Given the description of an element on the screen output the (x, y) to click on. 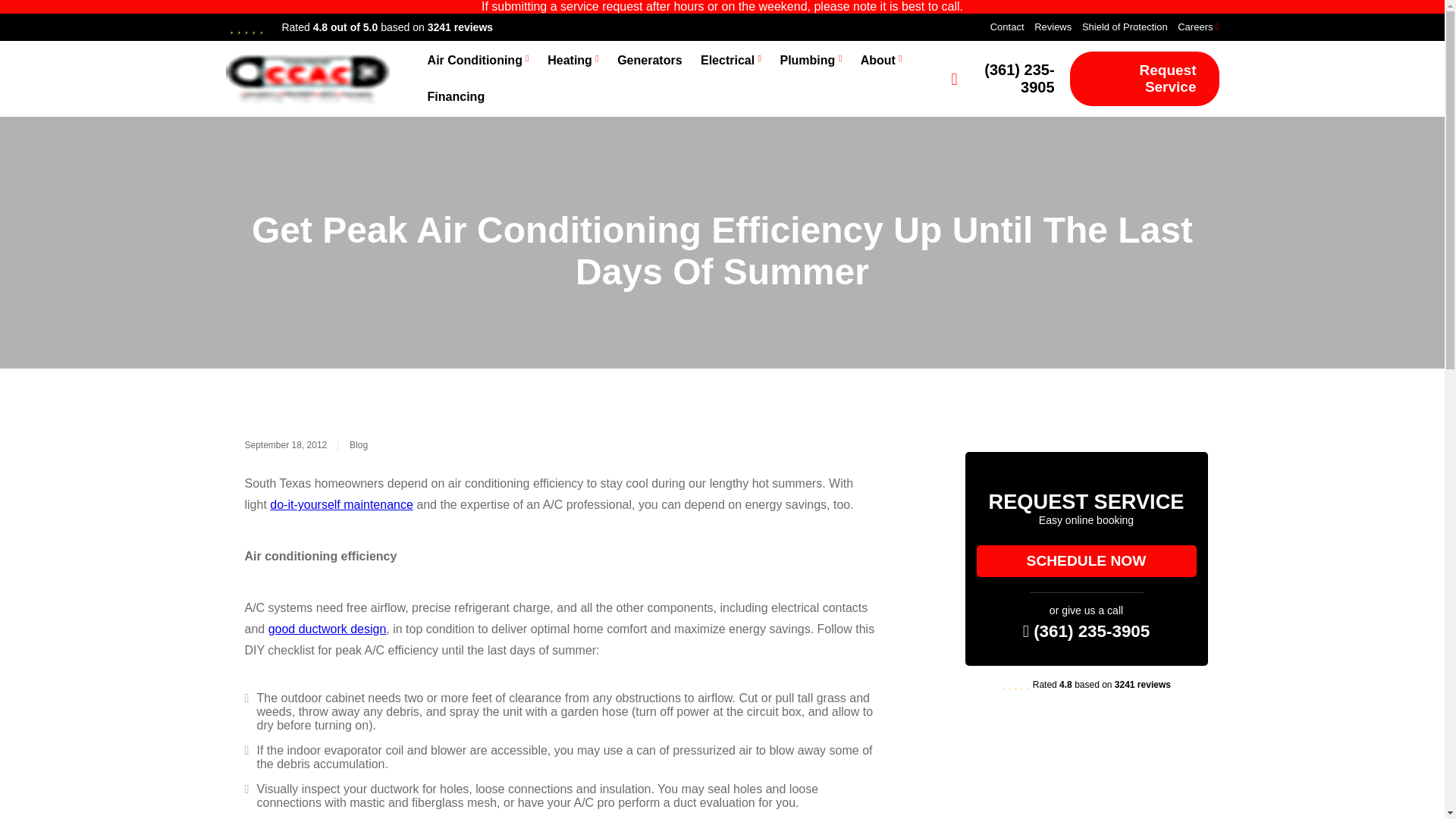
Electrical (727, 60)
Careers (1194, 26)
Reviews (1052, 26)
Plumbing (806, 60)
Heating (569, 60)
Shield of Protection (1124, 26)
Generators (649, 60)
Contact (1007, 26)
Air Conditioning (475, 60)
